Given the description of an element on the screen output the (x, y) to click on. 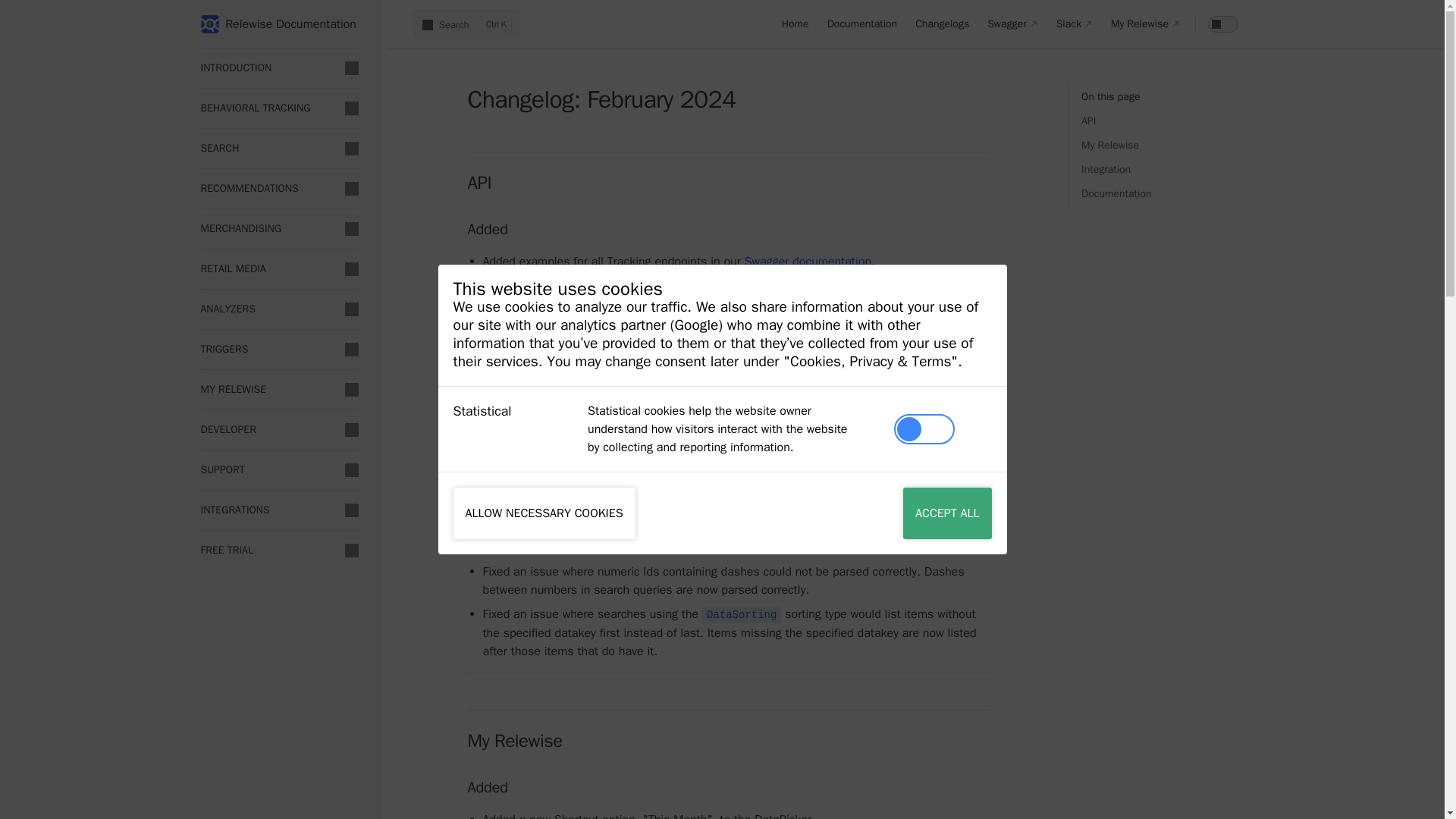
Documentation (1160, 193)
Swagger (1012, 24)
API (1160, 120)
Relewise Documentation (279, 24)
Changelogs (941, 24)
Documentation (465, 24)
My Relewise (862, 24)
Integration (1145, 24)
Slack (1160, 169)
Switch to dark theme (1074, 24)
Home (1223, 23)
Skip to content (795, 24)
My Relewise (23, 16)
